Given the description of an element on the screen output the (x, y) to click on. 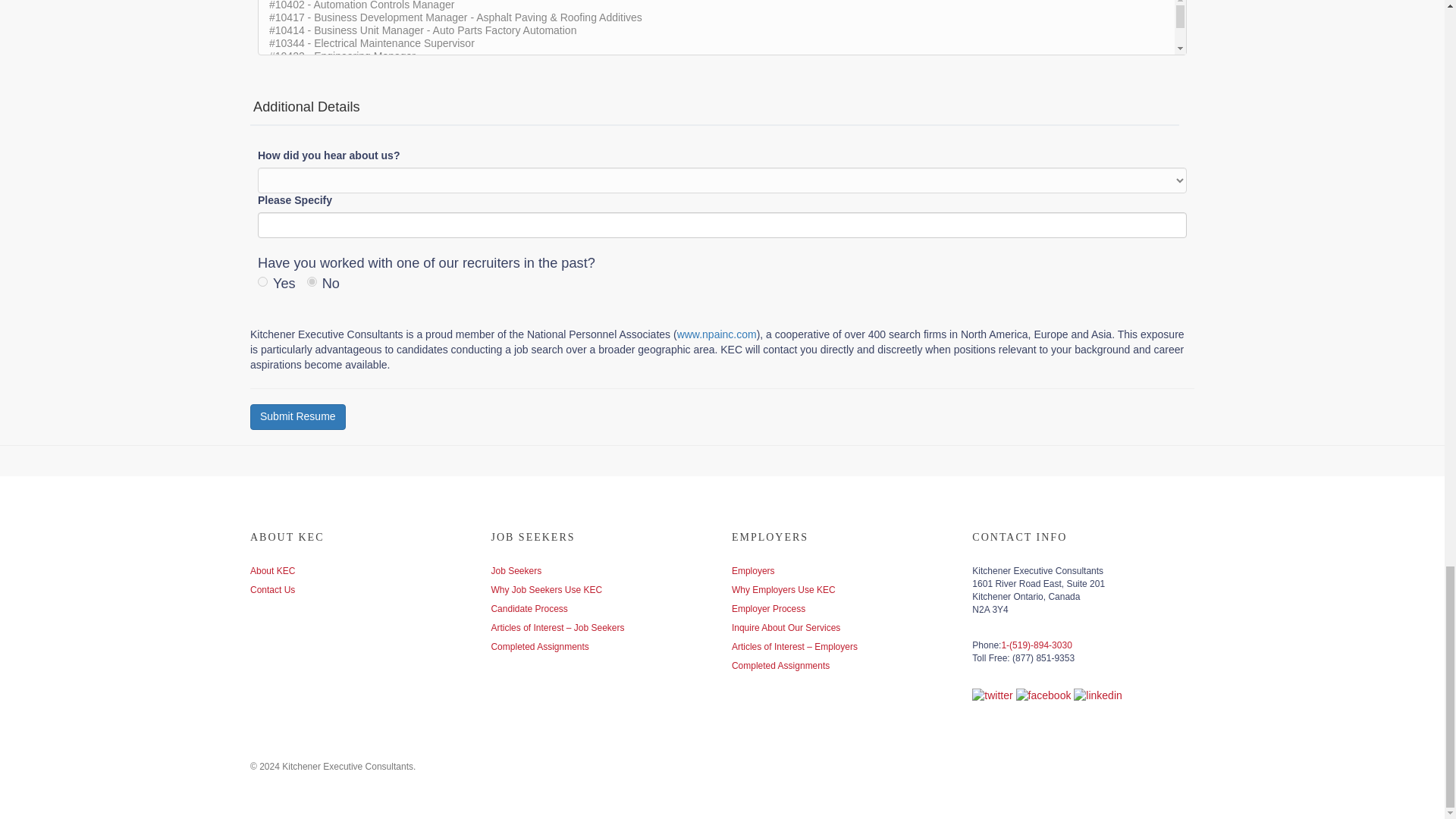
Employer Process (768, 608)
Submit Resume (298, 416)
www.npainc.com (717, 334)
Contact Us (272, 589)
Completed Assignments (539, 646)
Why Employers Use KEC (783, 589)
Job Seekers (515, 570)
Employers (753, 570)
Inquire About Our Services (786, 627)
Why Job Seekers Use KEC (546, 589)
About KEC (272, 570)
Completed Assignments (780, 665)
Candidate Process (528, 608)
